Given the description of an element on the screen output the (x, y) to click on. 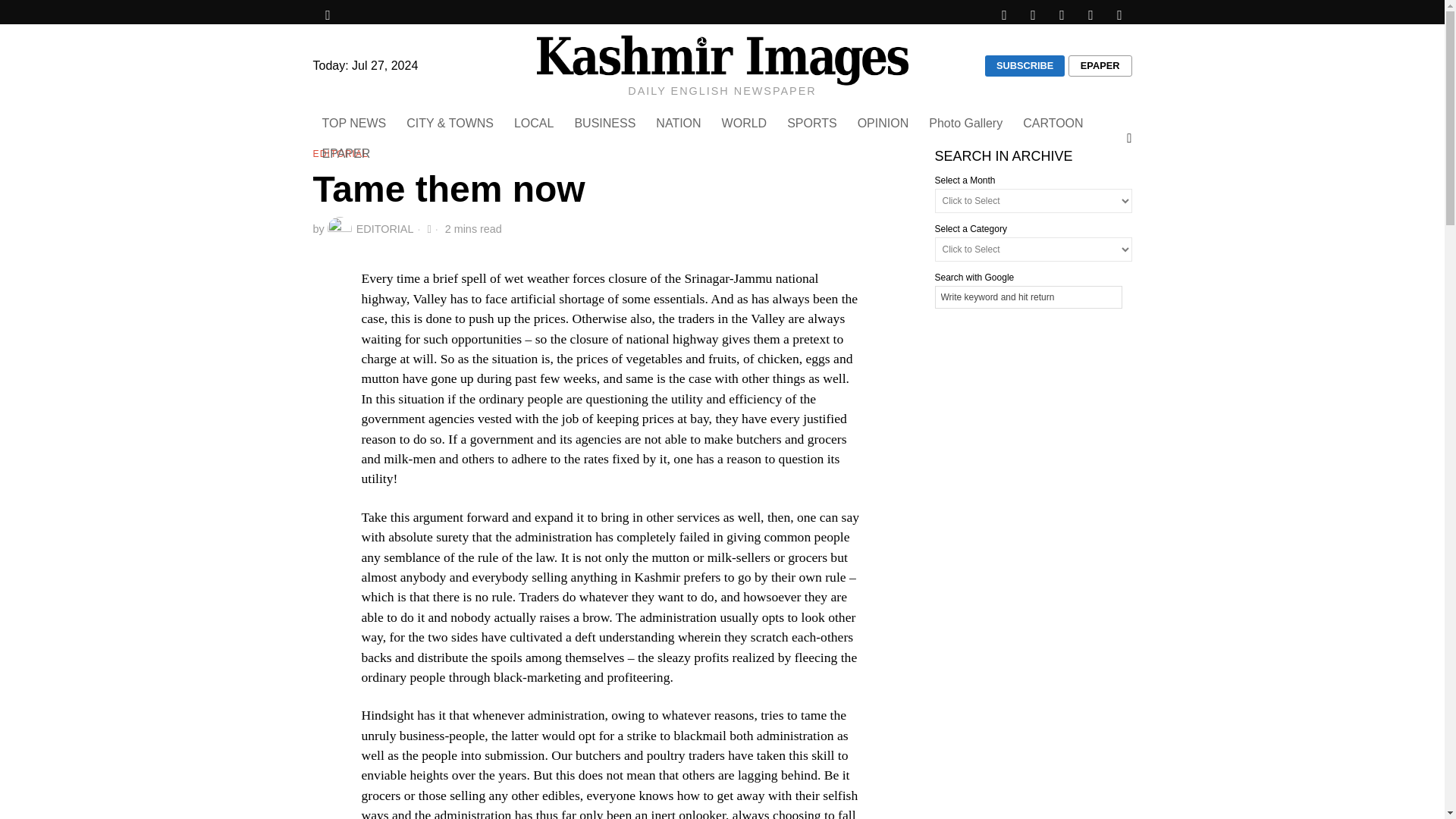
SUBSCRIBE (1024, 65)
SPORTS (812, 123)
NATION (678, 123)
EDITORIAL (340, 155)
Photo Gallery (966, 123)
CARTOON (1053, 123)
OPINION (884, 123)
EPAPER (347, 153)
LOCAL (534, 123)
BUSINESS (605, 123)
WORLD (745, 123)
Write keyword and hit return (1027, 296)
EDITORIAL (370, 228)
EPAPER (1100, 65)
TOP NEWS (355, 123)
